Given the description of an element on the screen output the (x, y) to click on. 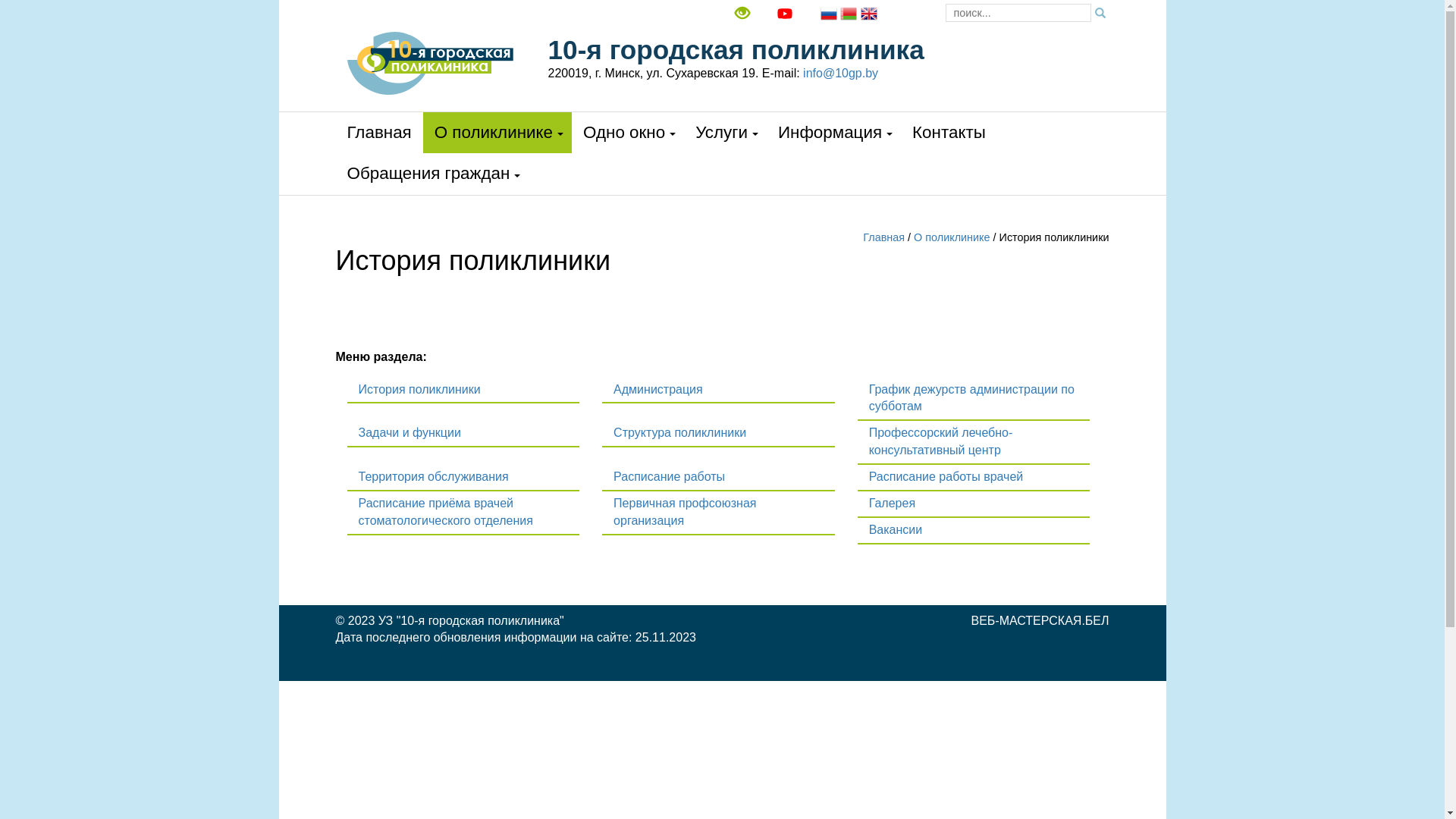
info@10gp.by Element type: text (840, 72)
